Given the description of an element on the screen output the (x, y) to click on. 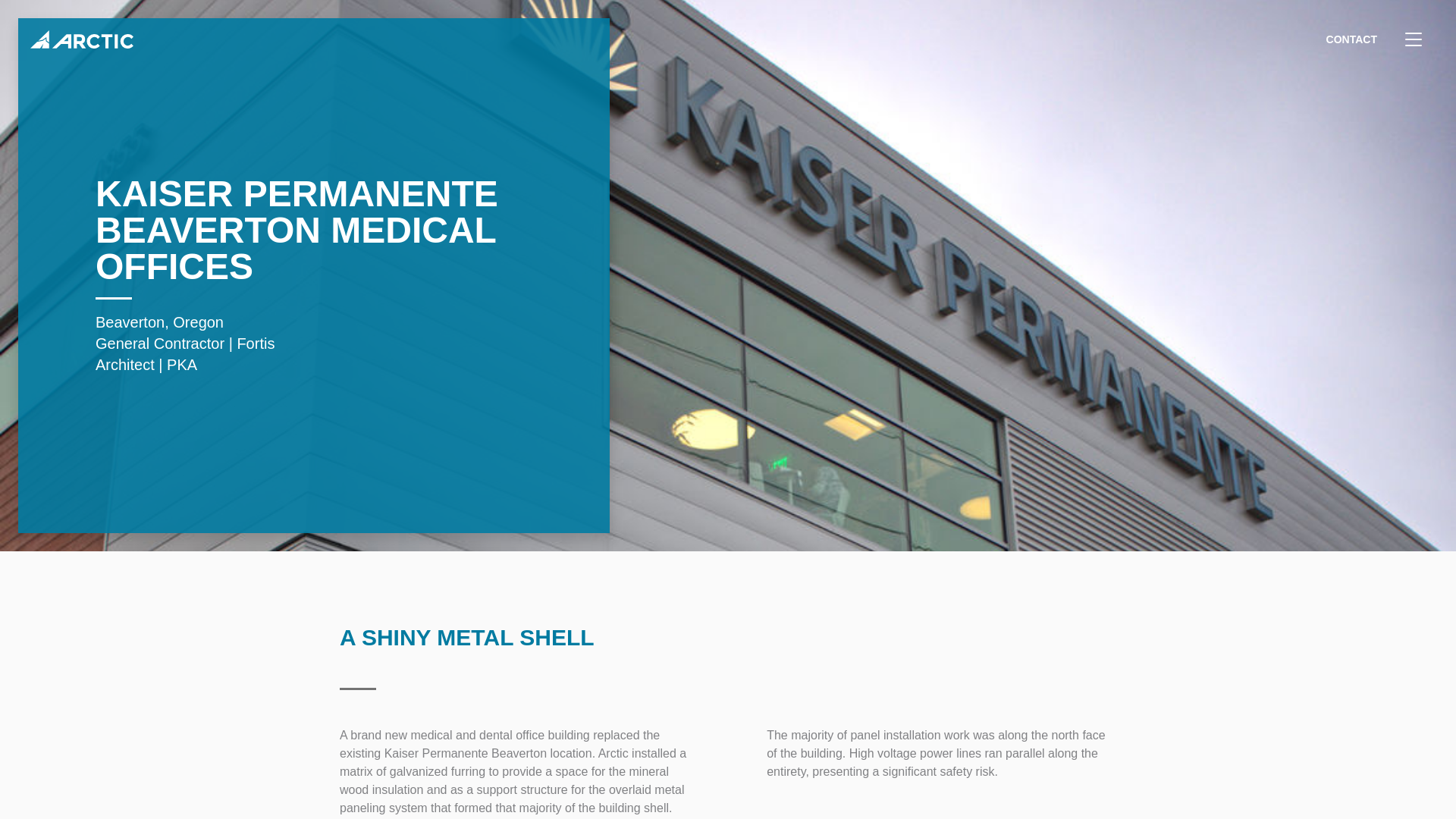
CONTACT (1351, 39)
